Given the description of an element on the screen output the (x, y) to click on. 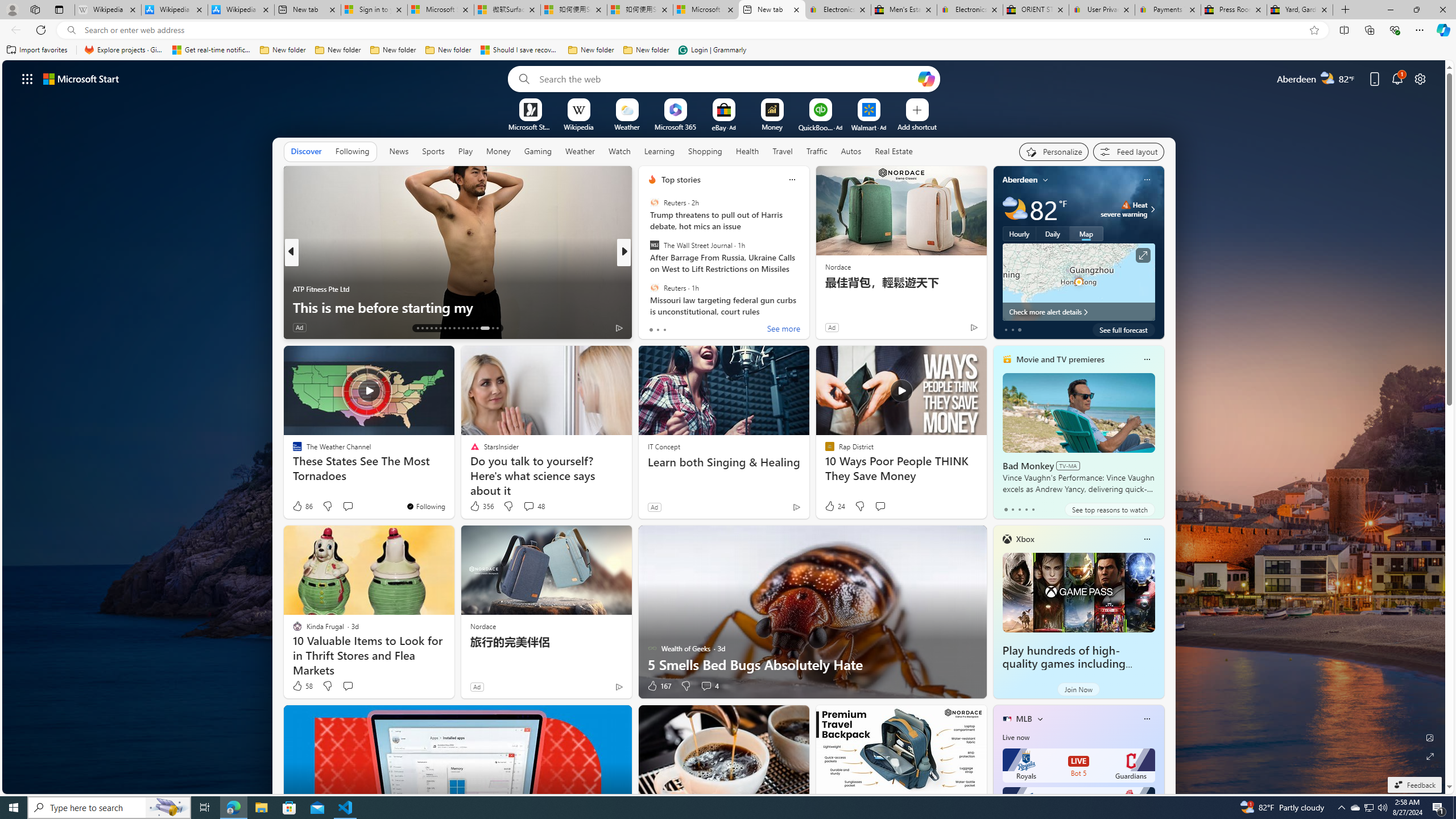
Health (746, 151)
Watch (619, 151)
Weather (580, 151)
AutomationID: tab-15 (426, 328)
AutomationID: tab-28 (492, 328)
AutomationID: tab-17 (435, 328)
ATP Fitness Pte Ltd (320, 288)
Learn both Singing & Healing (723, 462)
Join Now (1078, 689)
